Given the description of an element on the screen output the (x, y) to click on. 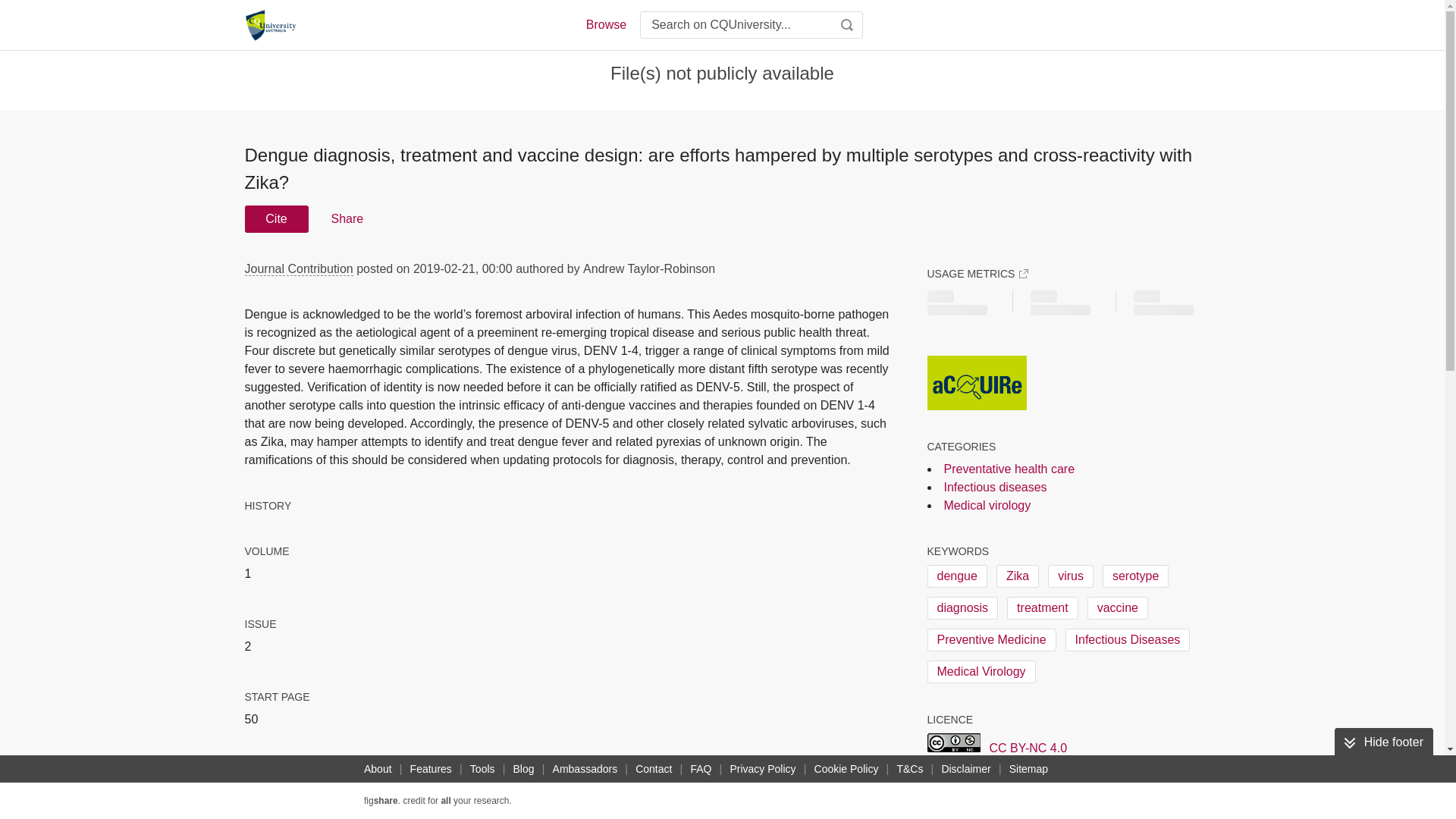
FAQ (700, 769)
Medical Virology (980, 671)
Medical virology (986, 504)
virus (1070, 576)
vaccine (1117, 608)
USAGE METRICS (976, 273)
Infectious Diseases (1128, 639)
Zika (1017, 576)
Privacy Policy (762, 769)
Hide footer (1383, 742)
Infectious diseases (994, 486)
Contact (653, 769)
serotype (1135, 576)
treatment (1042, 608)
Blog (523, 769)
